Given the description of an element on the screen output the (x, y) to click on. 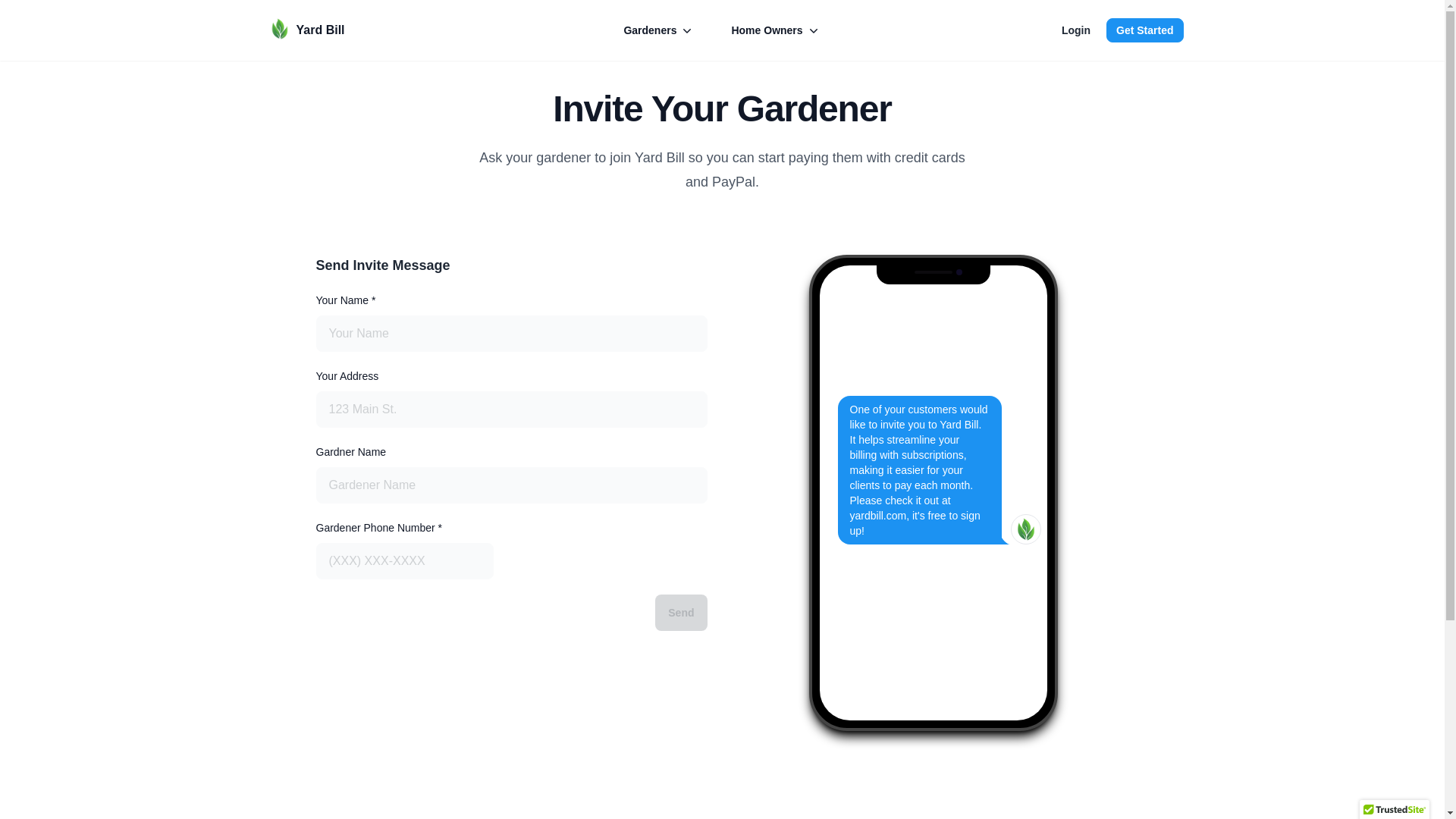
Gardeners (658, 30)
Home Owners (775, 30)
TrustedSite Certified (1394, 809)
Yard Bill (301, 30)
Get Started (1144, 30)
